Given the description of an element on the screen output the (x, y) to click on. 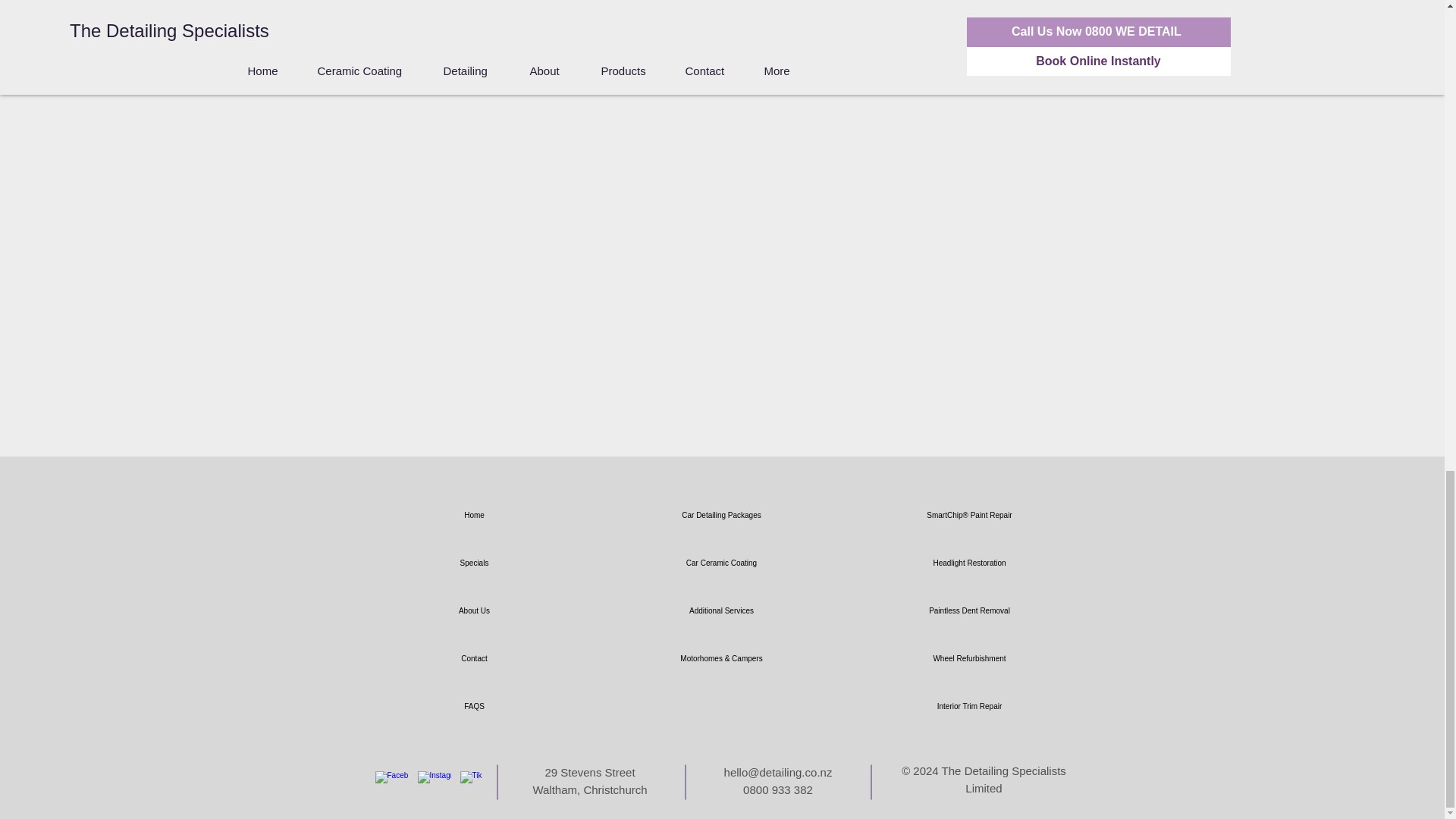
Car Detailing Packages (720, 514)
Headlight Restoration (968, 562)
About Us (473, 610)
Contact (473, 658)
Additional Services (720, 610)
Home (473, 514)
FAQS (473, 706)
Car Ceramic Coating (720, 562)
Paintless Dent Removal (968, 610)
Specials (473, 562)
